Given the description of an element on the screen output the (x, y) to click on. 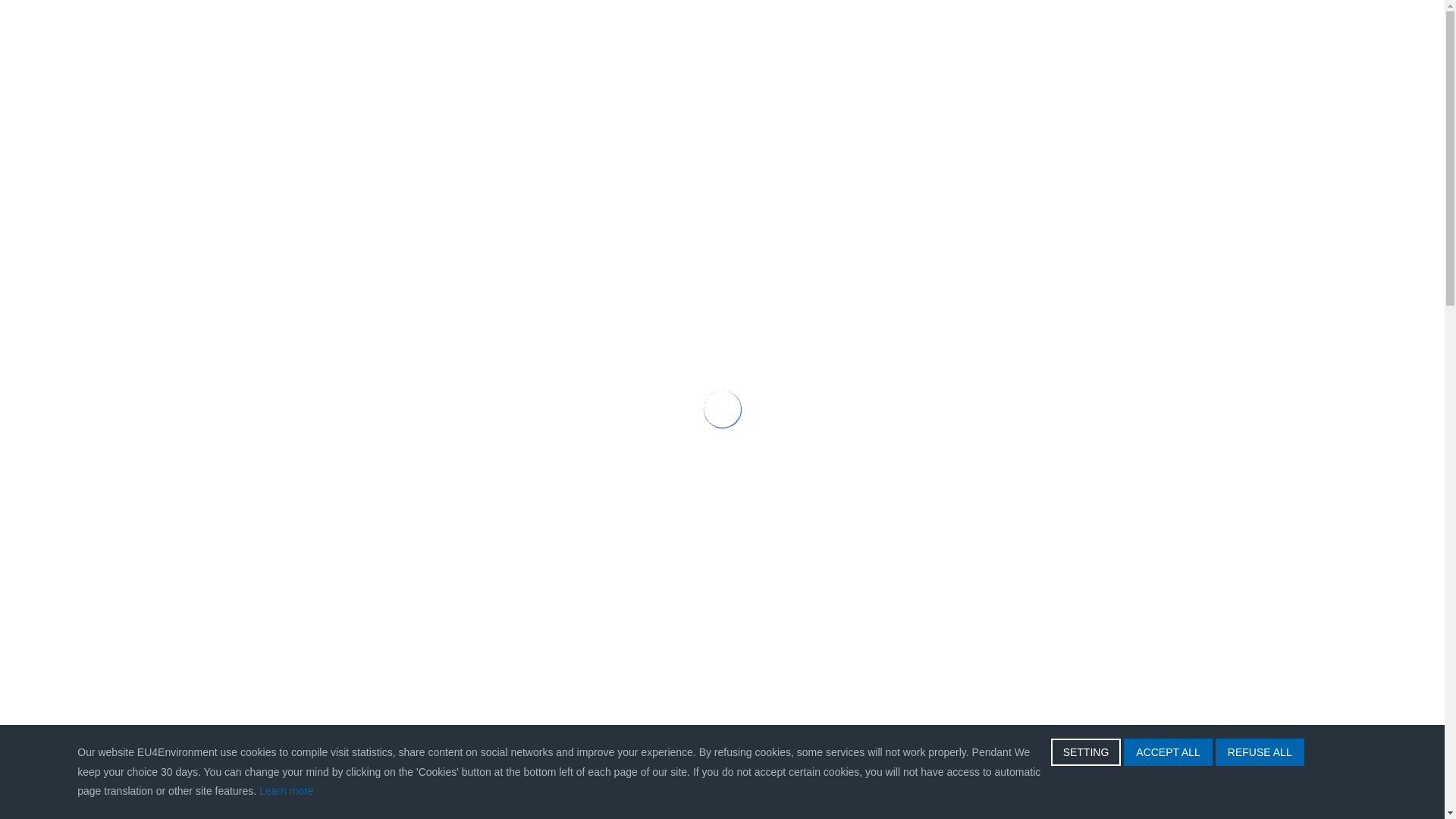
ENVIRONMENTAL DATA (798, 113)
WHERE WE WORK (972, 113)
HOME (417, 113)
WATER RESOURCES (622, 113)
ABOUT (493, 113)
Created: 14 February 2023 (312, 717)
